Given the description of an element on the screen output the (x, y) to click on. 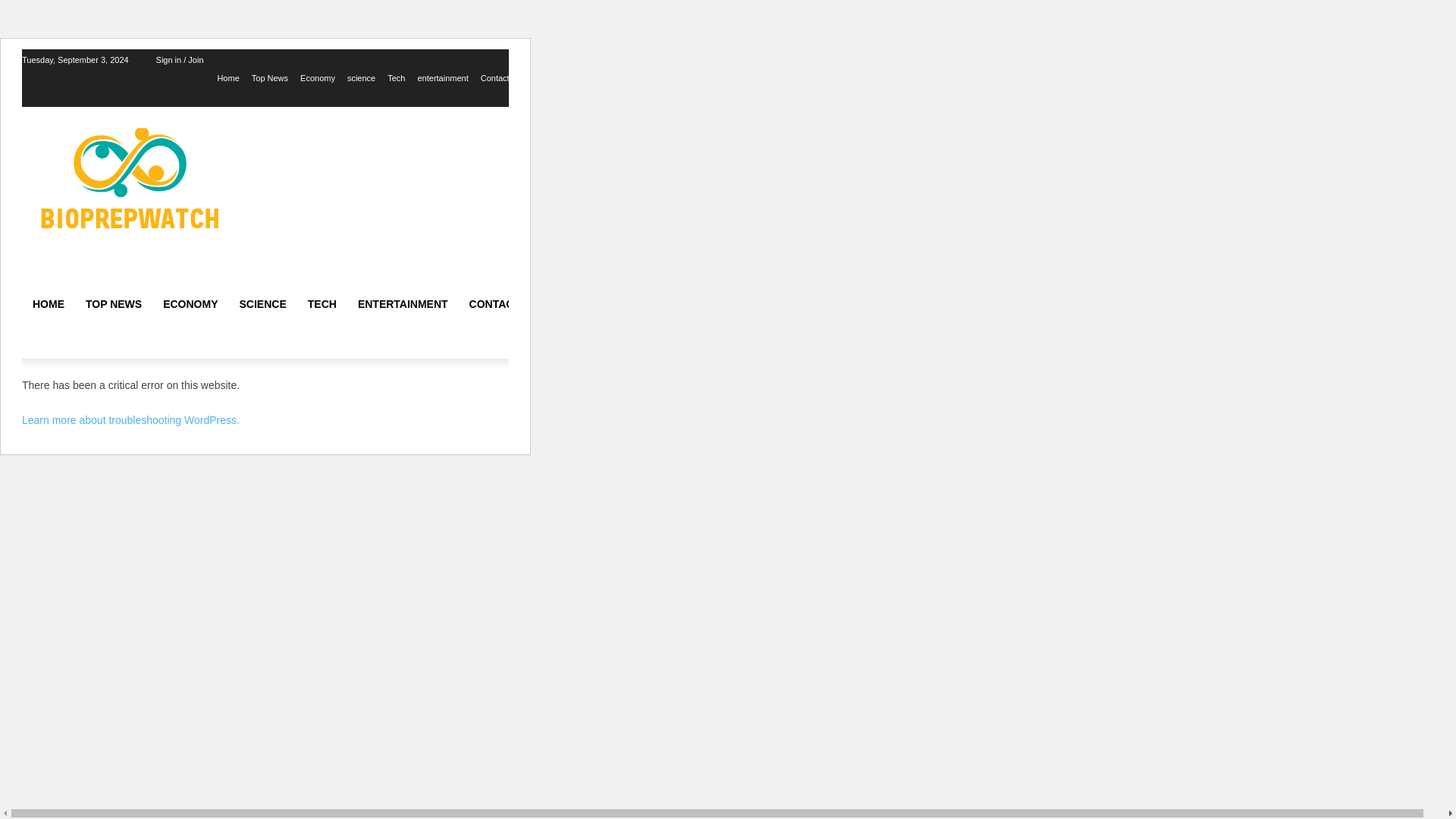
TECH (322, 303)
Top News (269, 77)
HOME (48, 303)
SCIENCE (262, 303)
ENTERTAINMENT (402, 303)
Economy (316, 77)
entertainment (441, 77)
Home (227, 77)
TOP NEWS (113, 303)
science (361, 77)
